Given the description of an element on the screen output the (x, y) to click on. 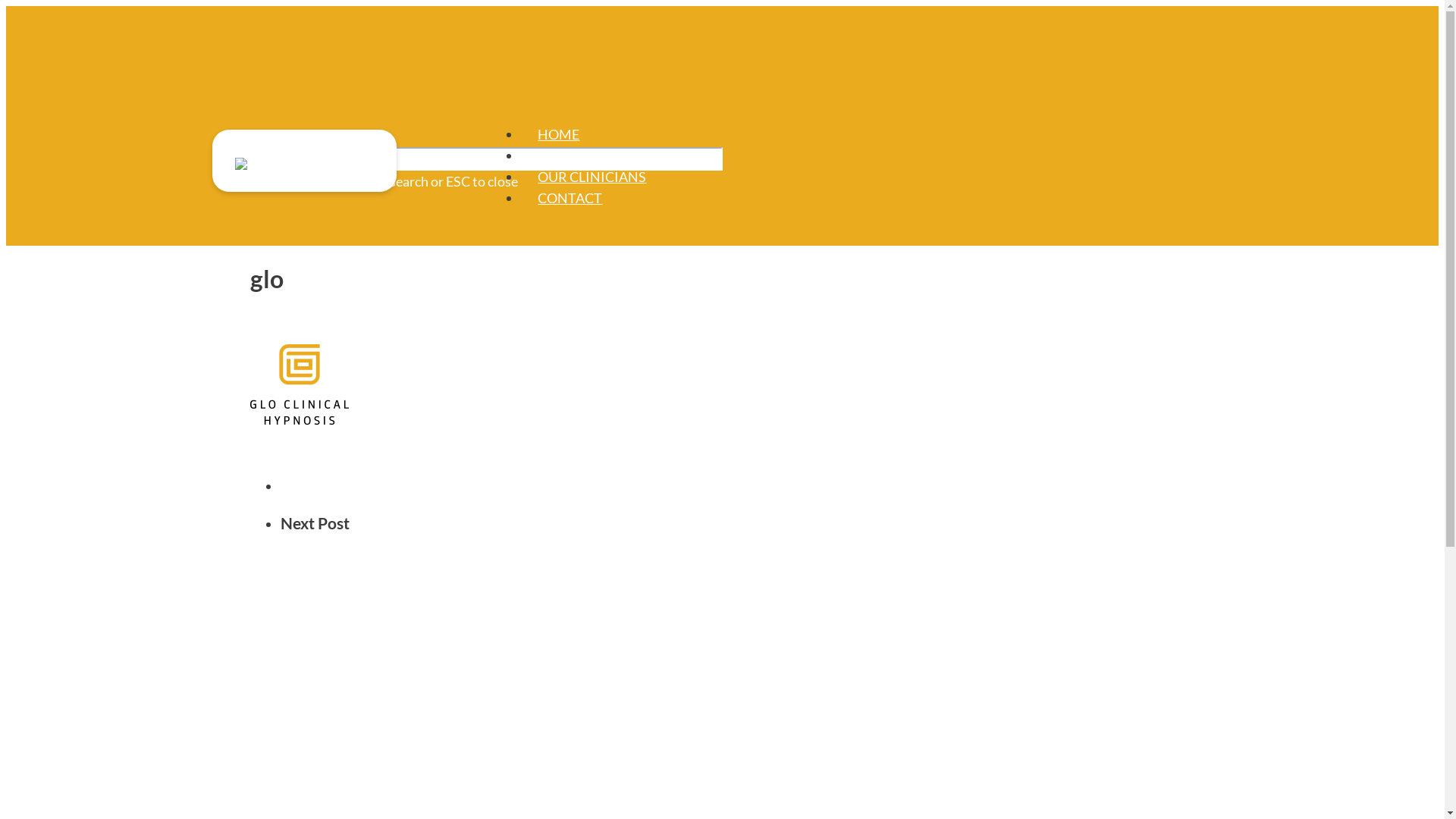
OUR CLINICIANS Element type: text (591, 176)
HOME Element type: text (558, 133)
CONTACT Element type: text (569, 197)
ABOUT Element type: text (560, 155)
